Given the description of an element on the screen output the (x, y) to click on. 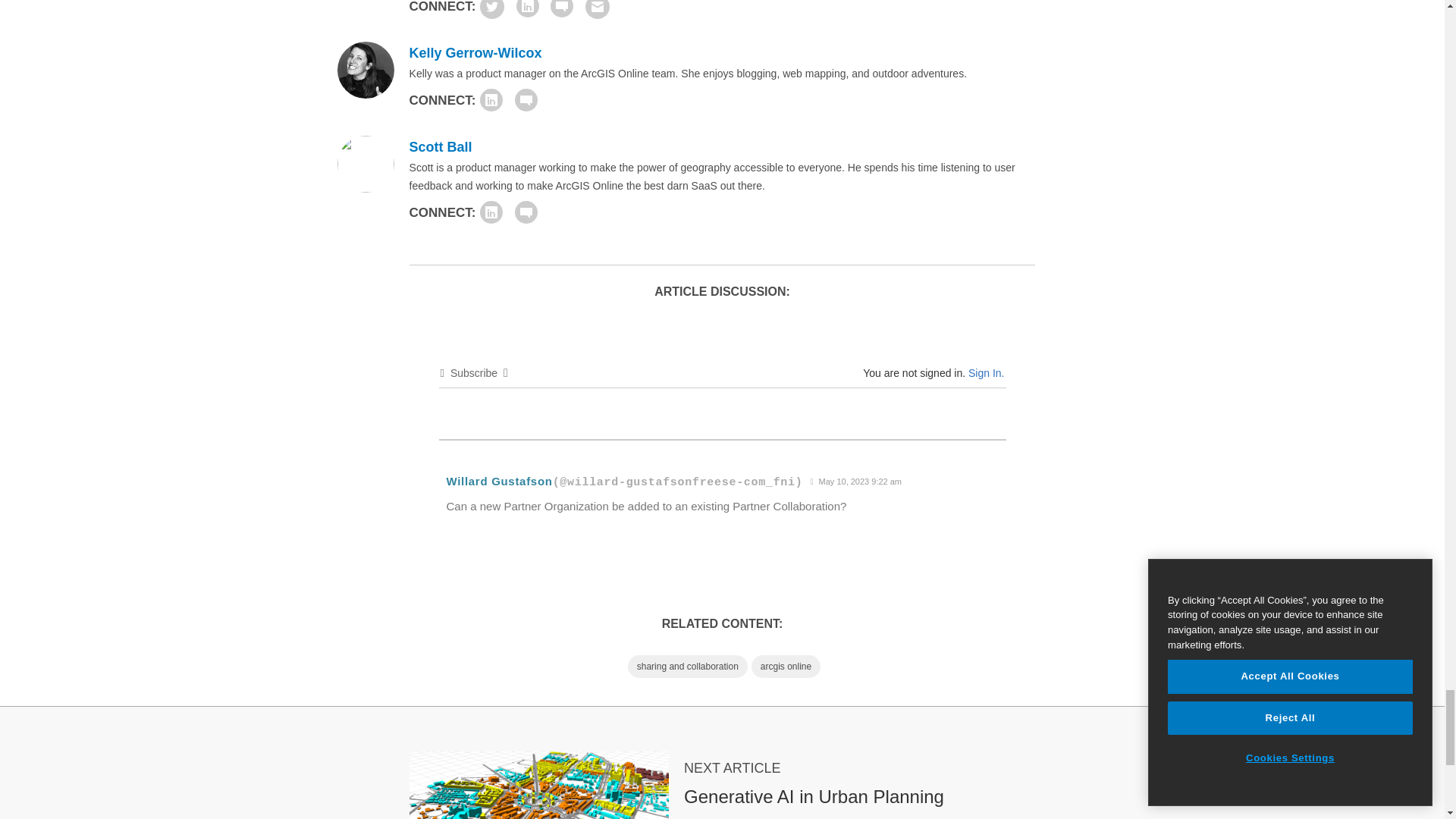
May 10, 2023 9:22 am (855, 481)
